Given the description of an element on the screen output the (x, y) to click on. 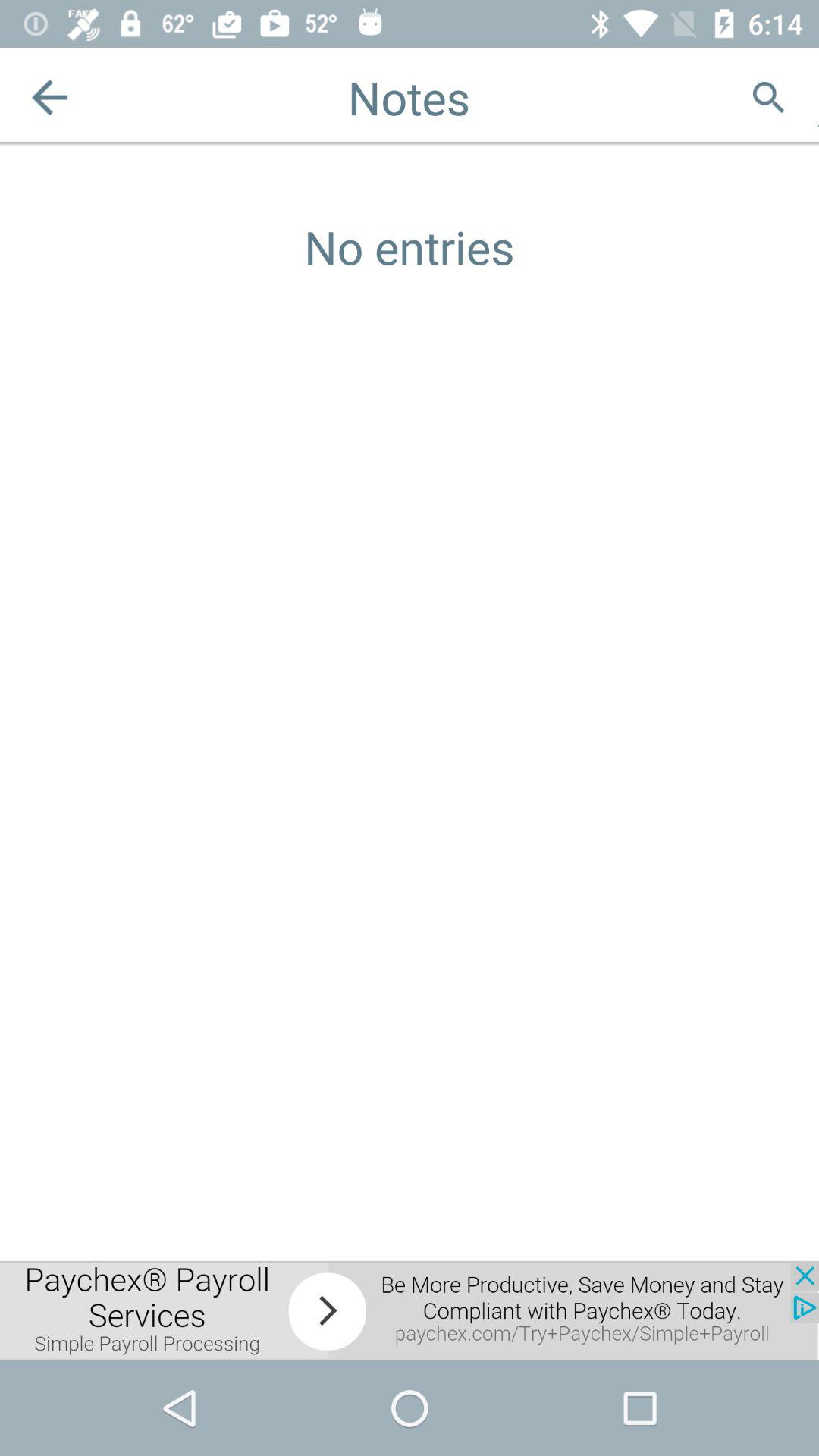
advertisement banner (409, 1310)
